Given the description of an element on the screen output the (x, y) to click on. 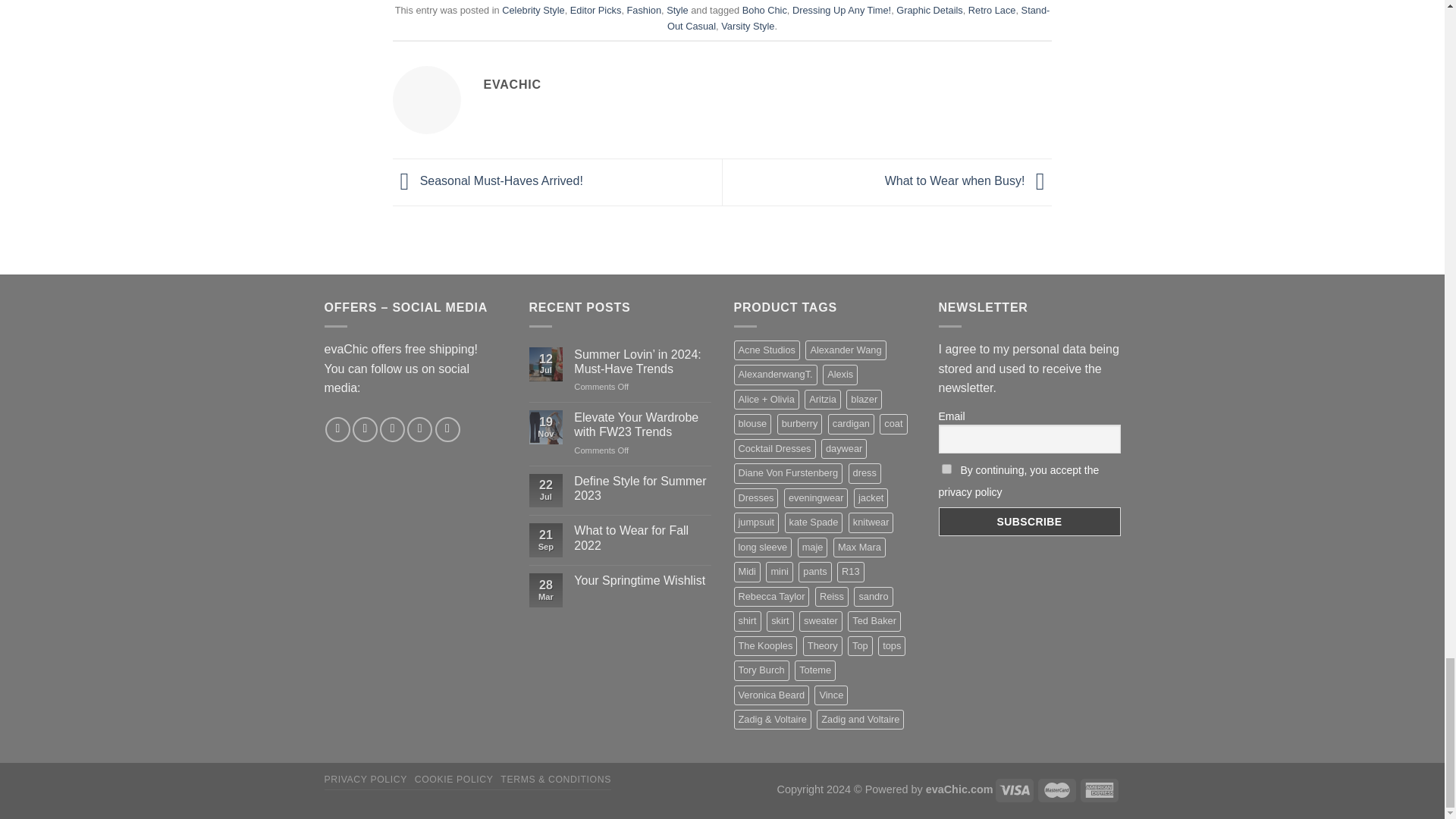
Send us an email (419, 429)
Follow on Facebook (337, 429)
Follow on Twitter (392, 429)
Subscribe (1030, 521)
Follow on Instagram (364, 429)
on (947, 469)
Follow on Pinterest (447, 429)
